Given the description of an element on the screen output the (x, y) to click on. 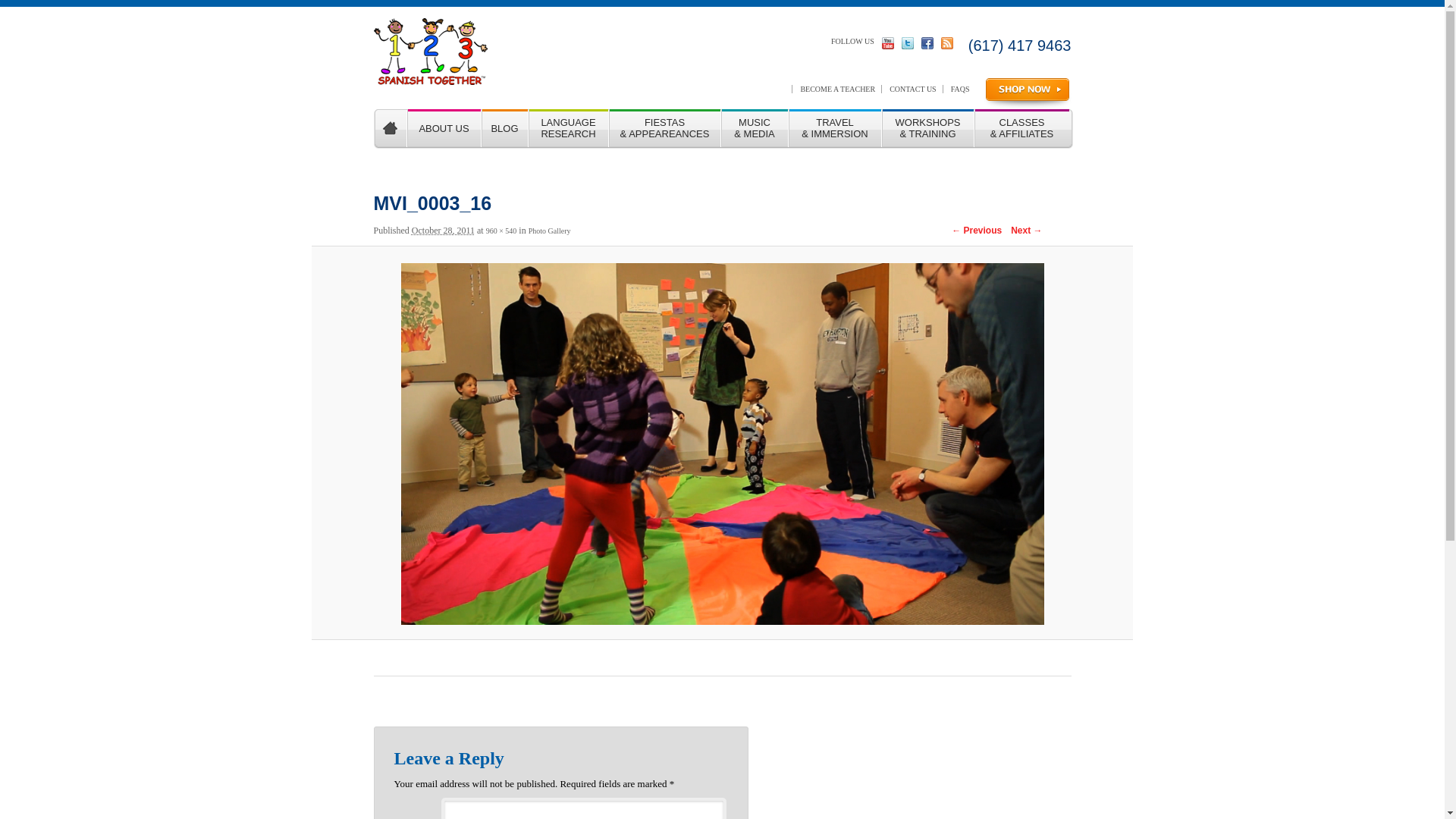
Photo Gallery Element type: text (549, 230)
MVI_0003_16 Element type: hover (722, 443)
